Given the description of an element on the screen output the (x, y) to click on. 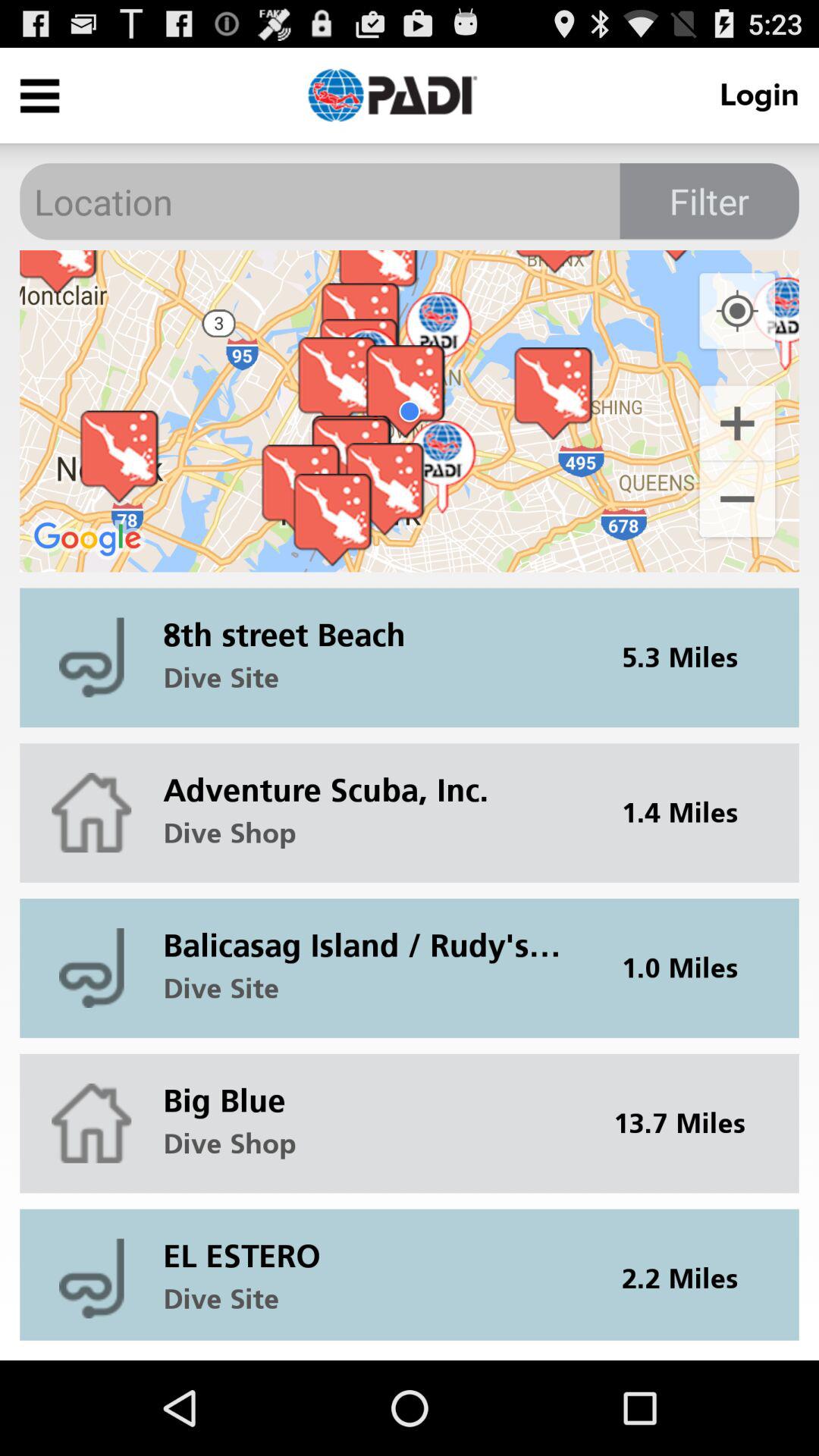
select icon above the dive shop (371, 778)
